Given the description of an element on the screen output the (x, y) to click on. 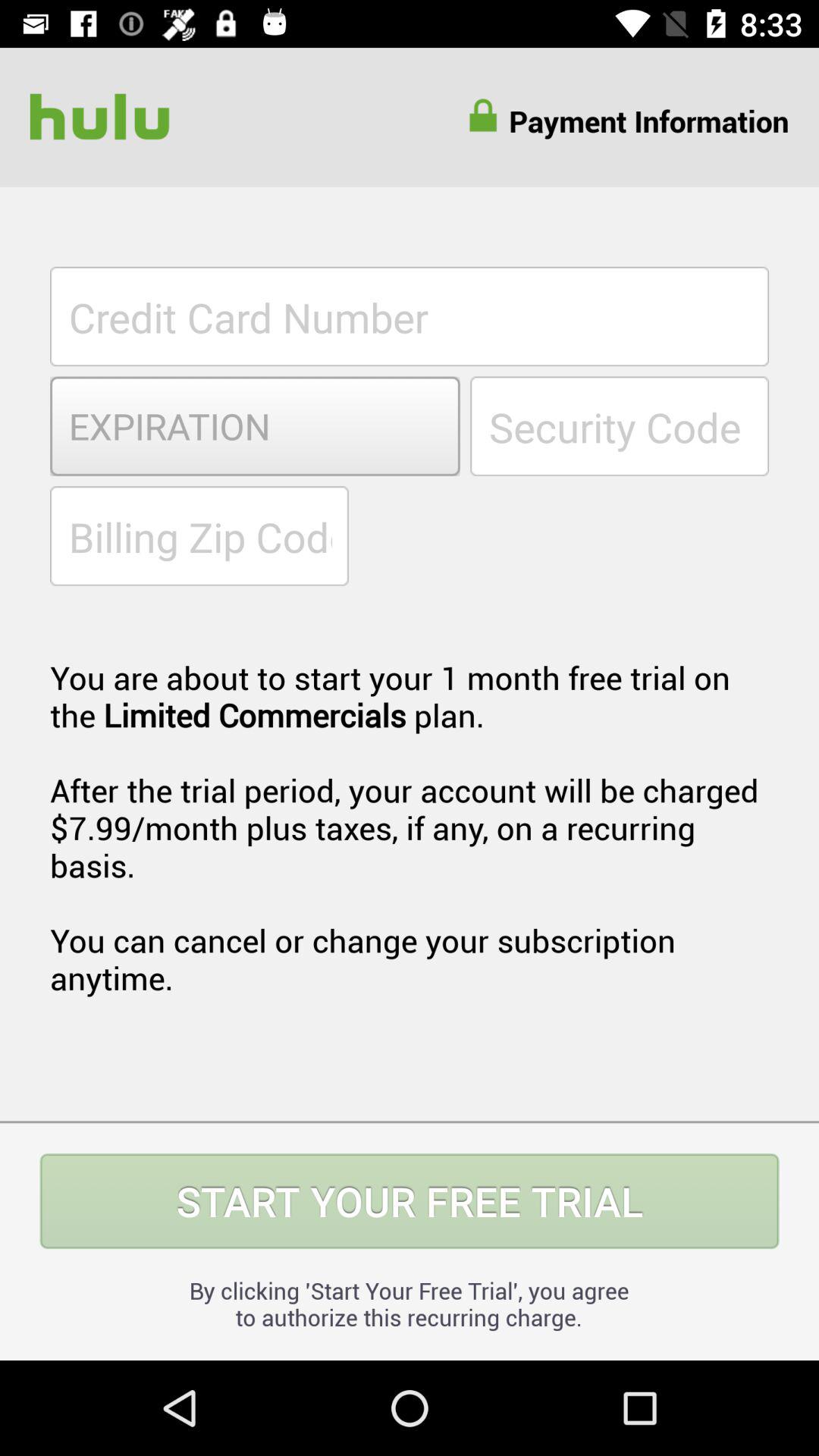
tap item below the expiration icon (199, 535)
